Given the description of an element on the screen output the (x, y) to click on. 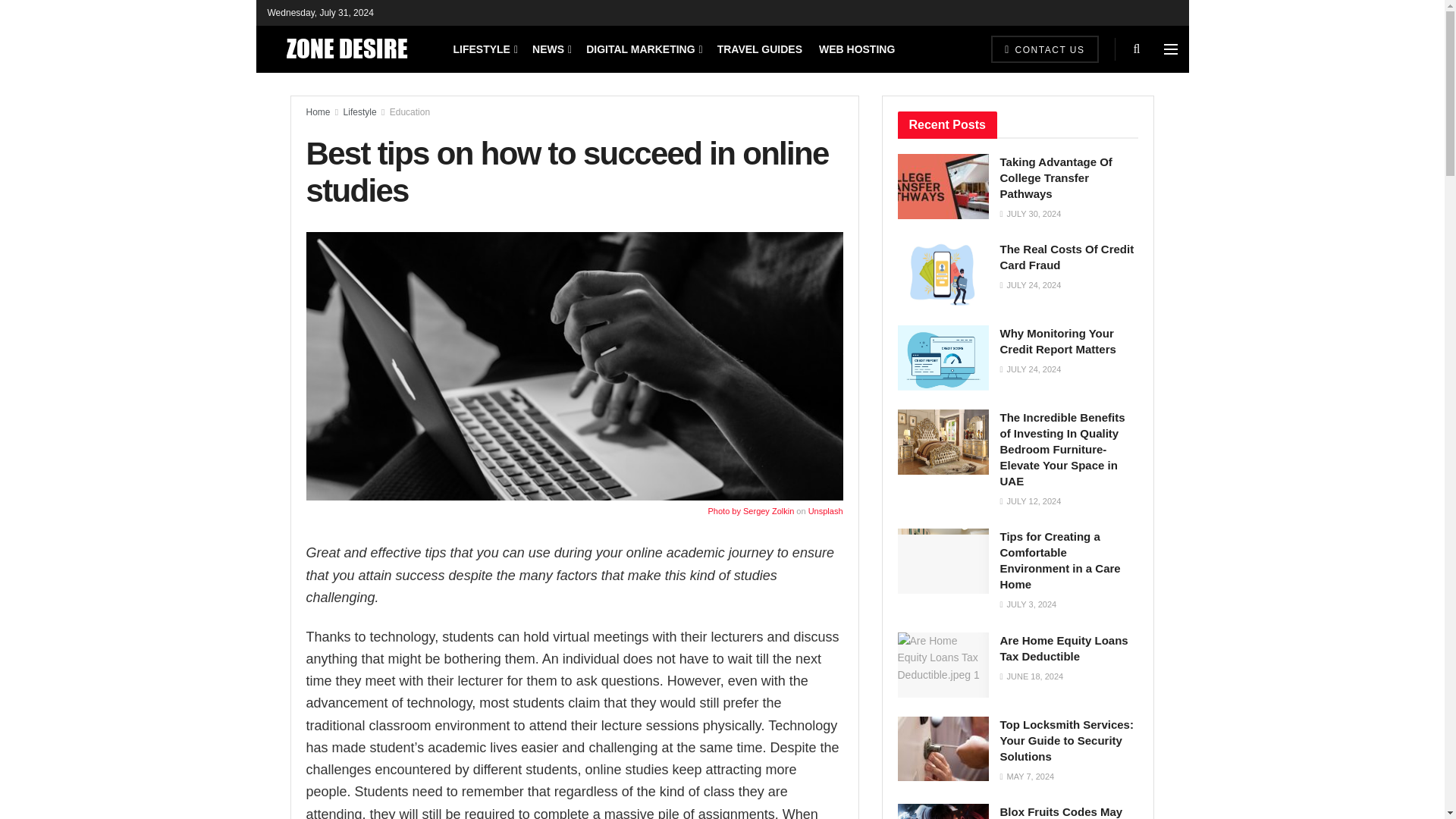
Education (409, 112)
Unsplash (825, 510)
Sergey Zolkin (767, 510)
LIFESTYLE (484, 48)
Home (317, 112)
DIGITAL MARKETING (643, 48)
TRAVEL GUIDES (759, 48)
Photo by (724, 510)
Lifestyle (360, 112)
WEB HOSTING (856, 48)
